Given the description of an element on the screen output the (x, y) to click on. 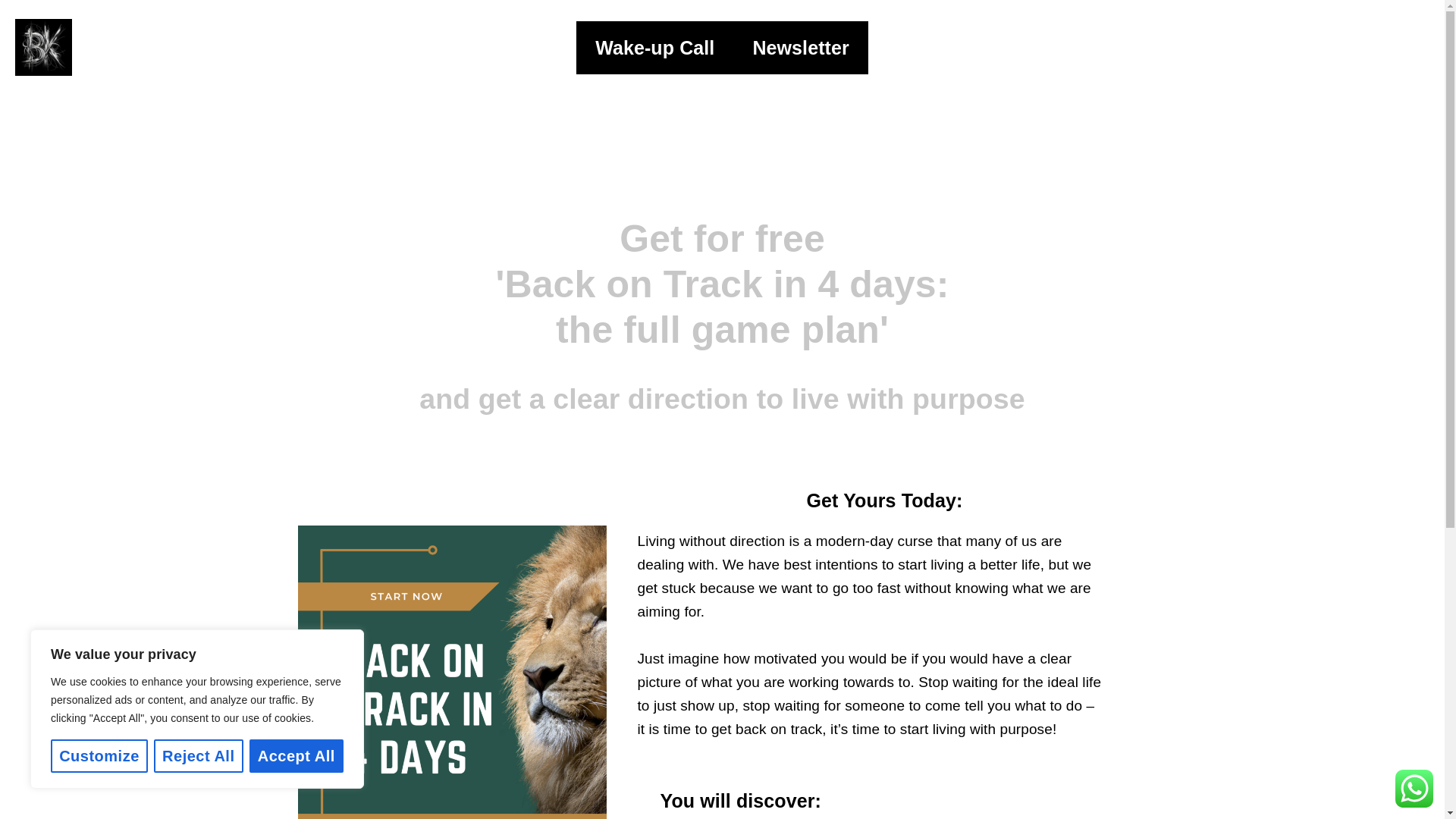
Customize (99, 756)
Newsletter (800, 47)
Accept All (295, 756)
Wake-up Call (654, 47)
Reject All (198, 756)
